Given the description of an element on the screen output the (x, y) to click on. 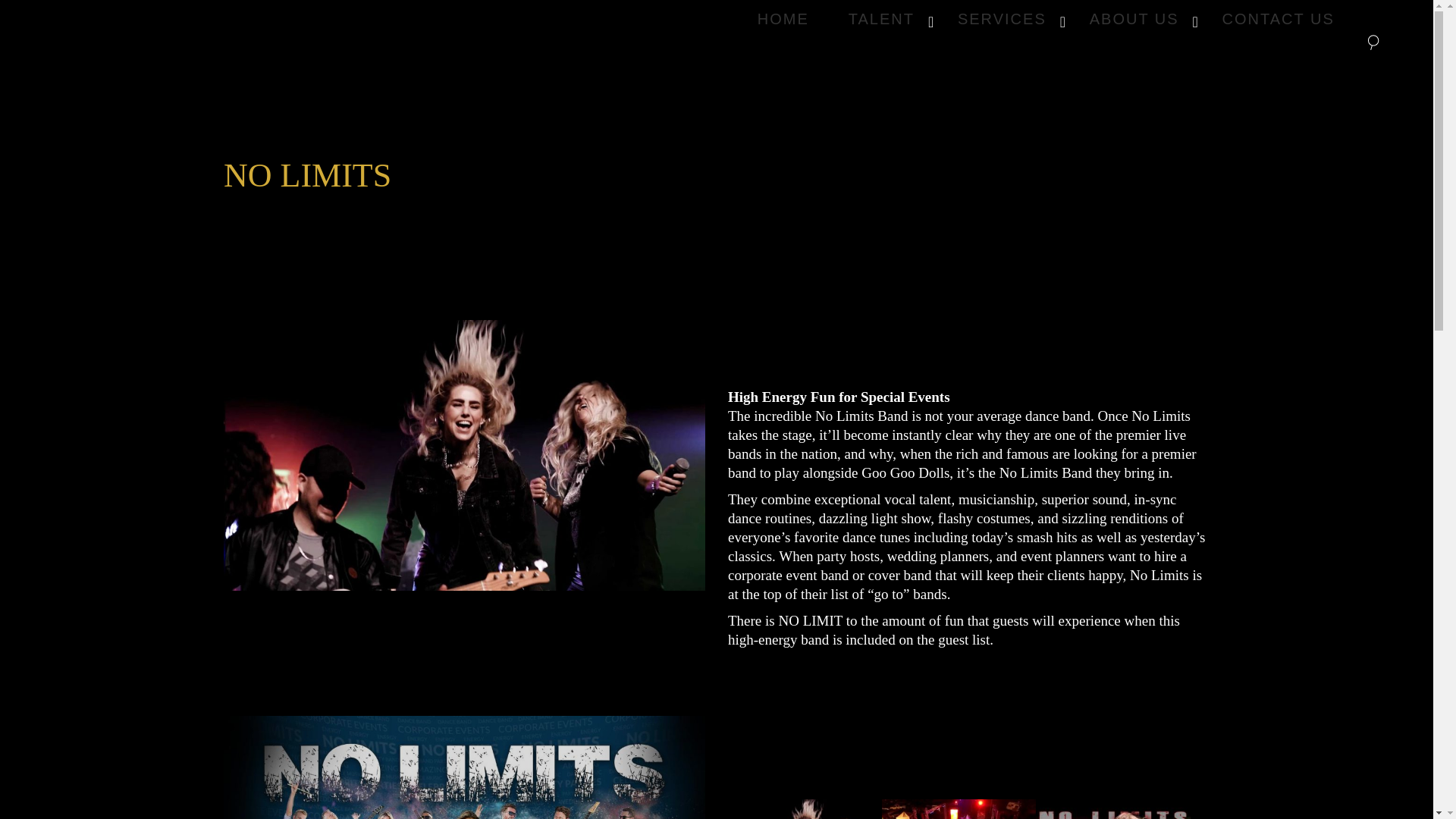
No Limits 2 (464, 767)
HOME (783, 18)
No Limits 1 (464, 455)
CONTACT US (1278, 18)
